Given the description of an element on the screen output the (x, y) to click on. 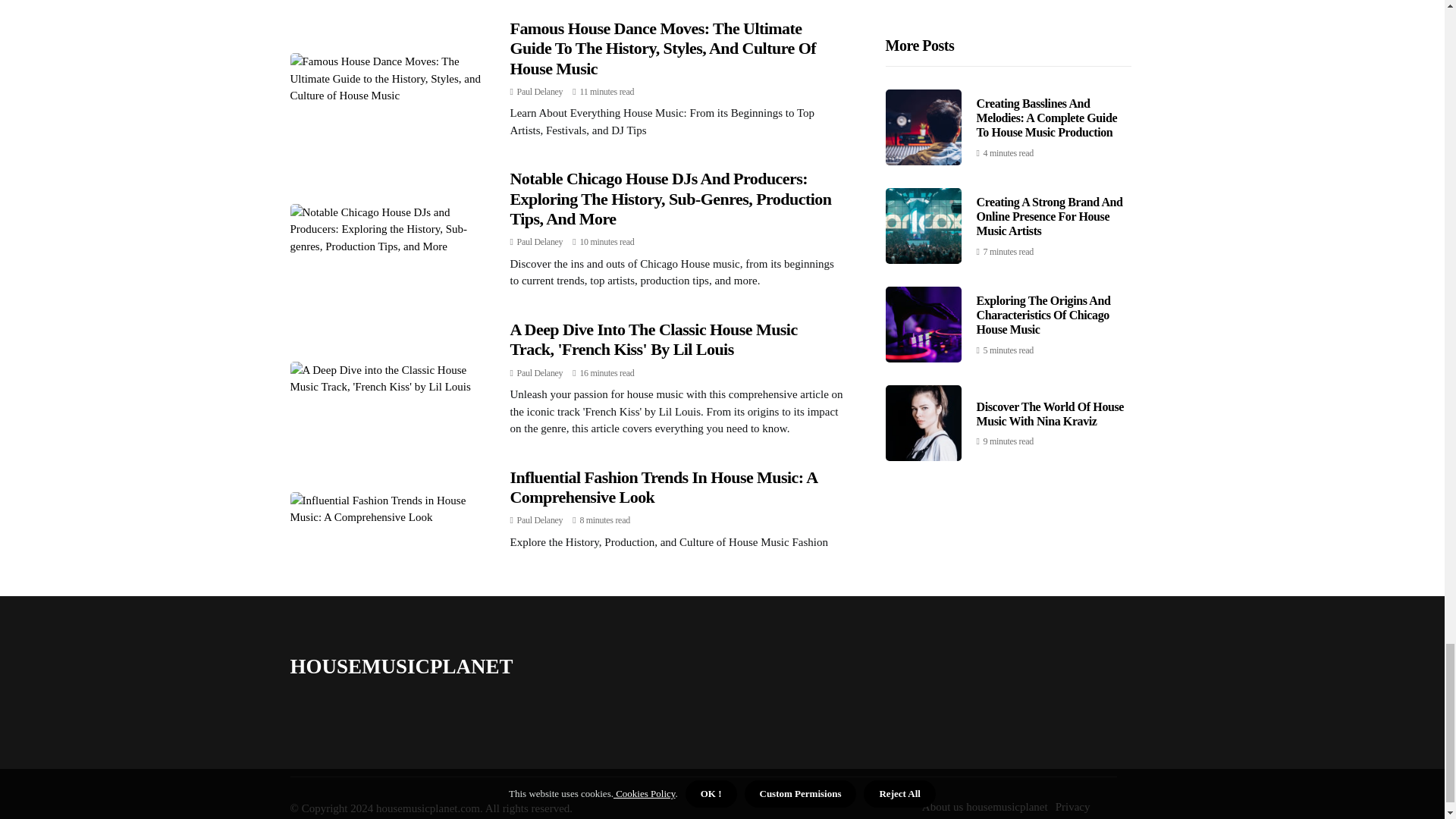
Posts by Paul Delaney (539, 372)
Posts by Paul Delaney (539, 520)
Posts by Paul Delaney (539, 241)
Posts by Paul Delaney (539, 91)
